Given the description of an element on the screen output the (x, y) to click on. 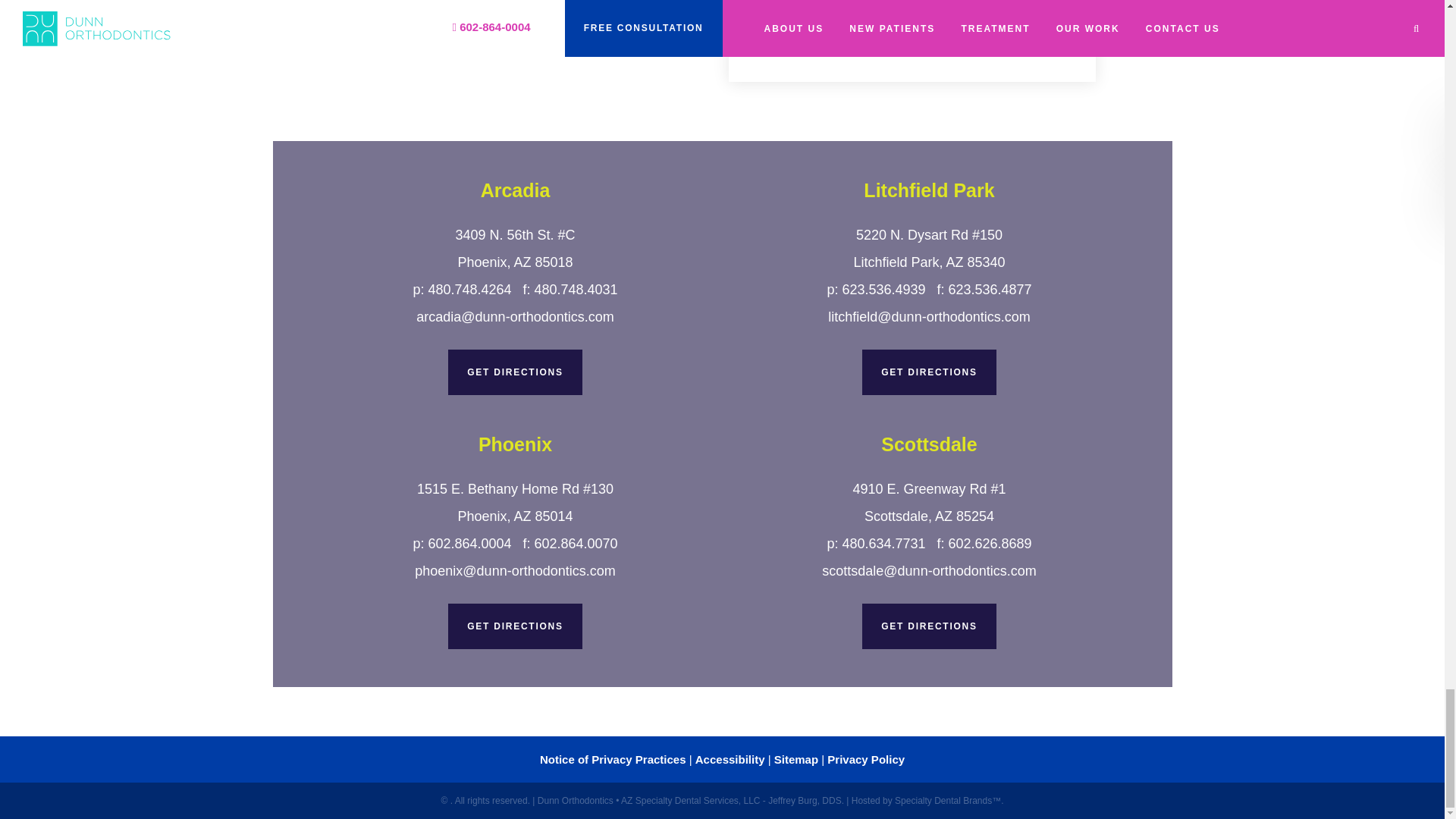
Submit (803, 13)
